Given the description of an element on the screen output the (x, y) to click on. 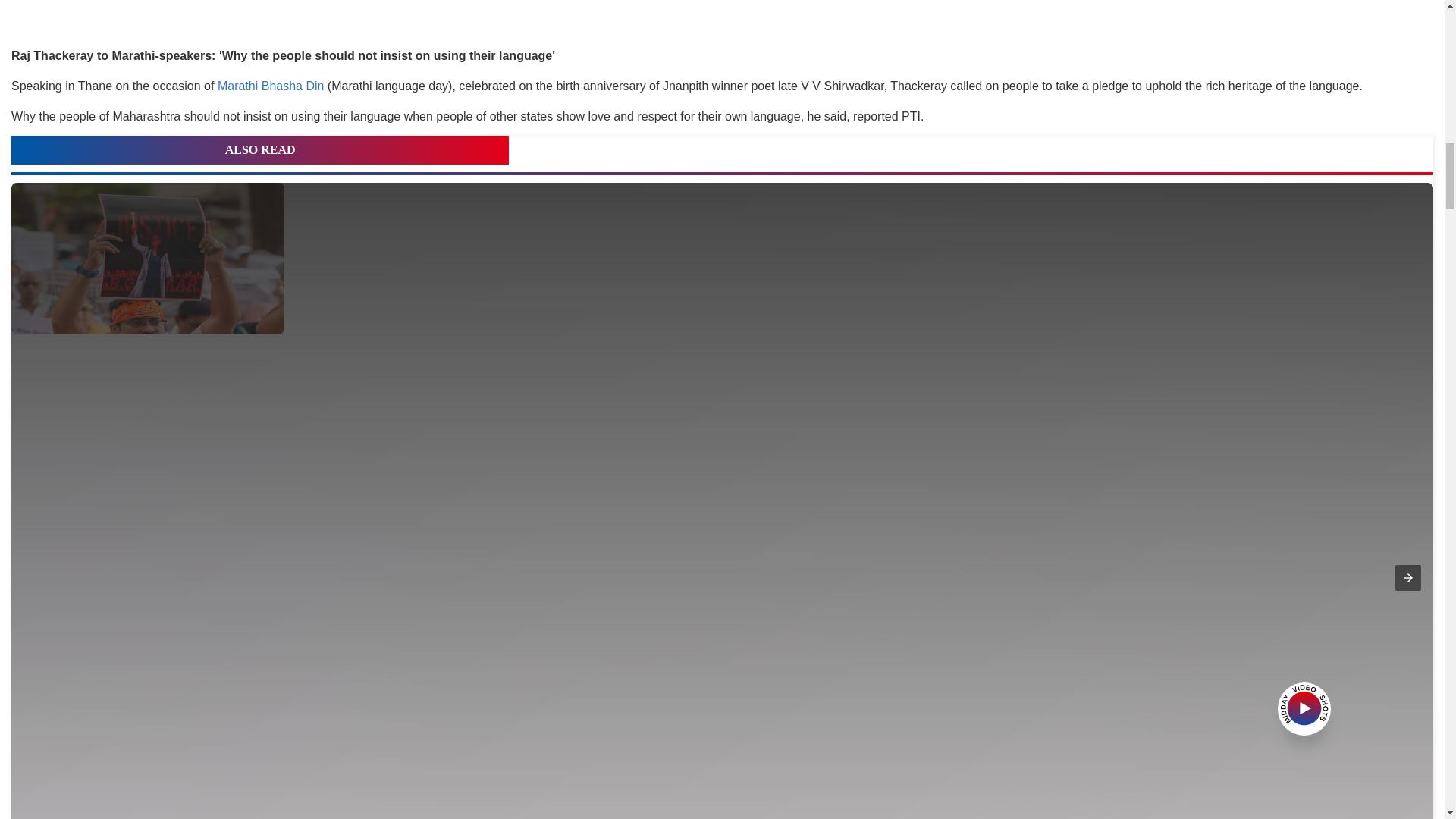
3rd party ad content (721, 22)
